Given the description of an element on the screen output the (x, y) to click on. 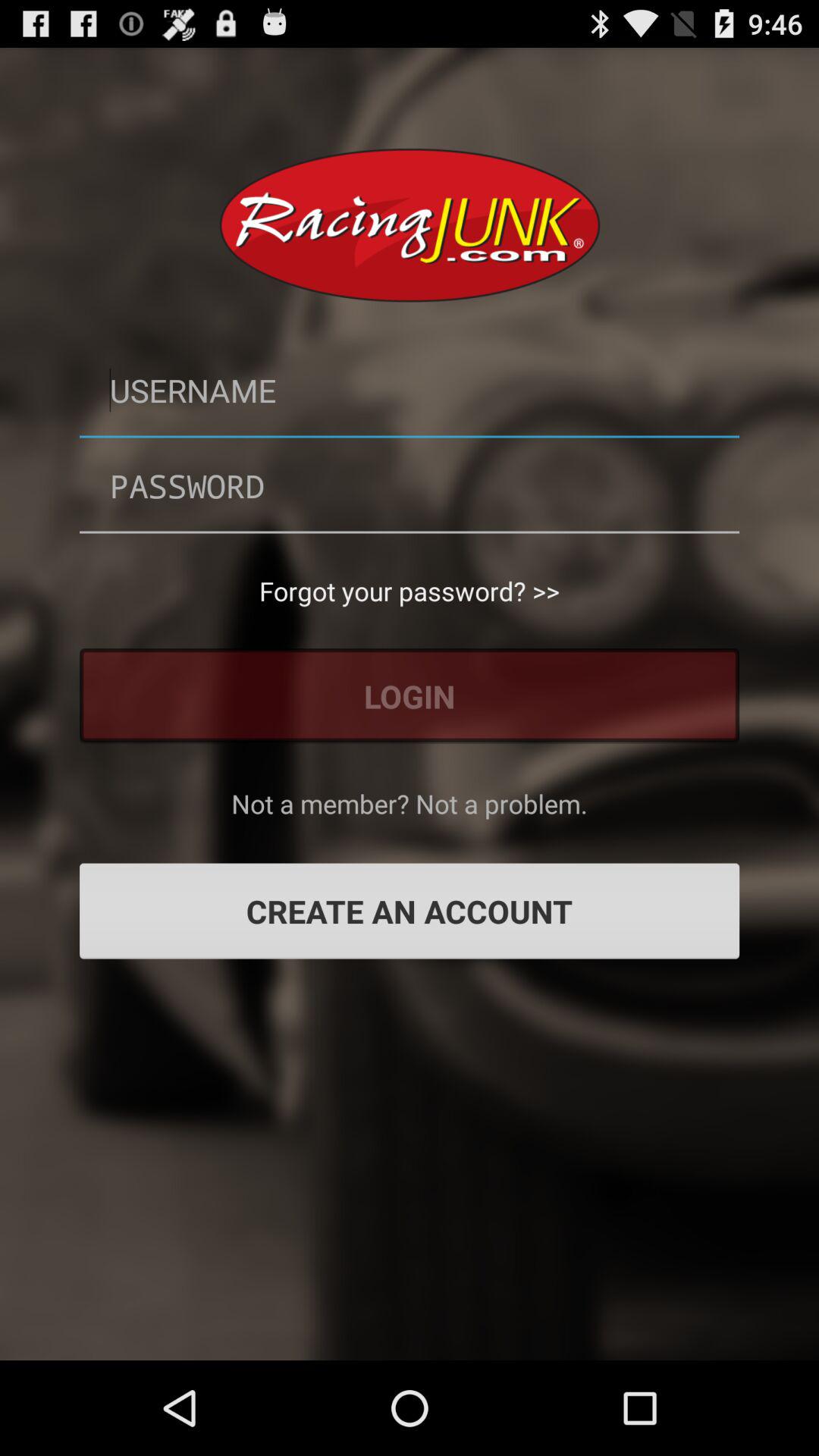
launch forgot your password? >> app (409, 590)
